Given the description of an element on the screen output the (x, y) to click on. 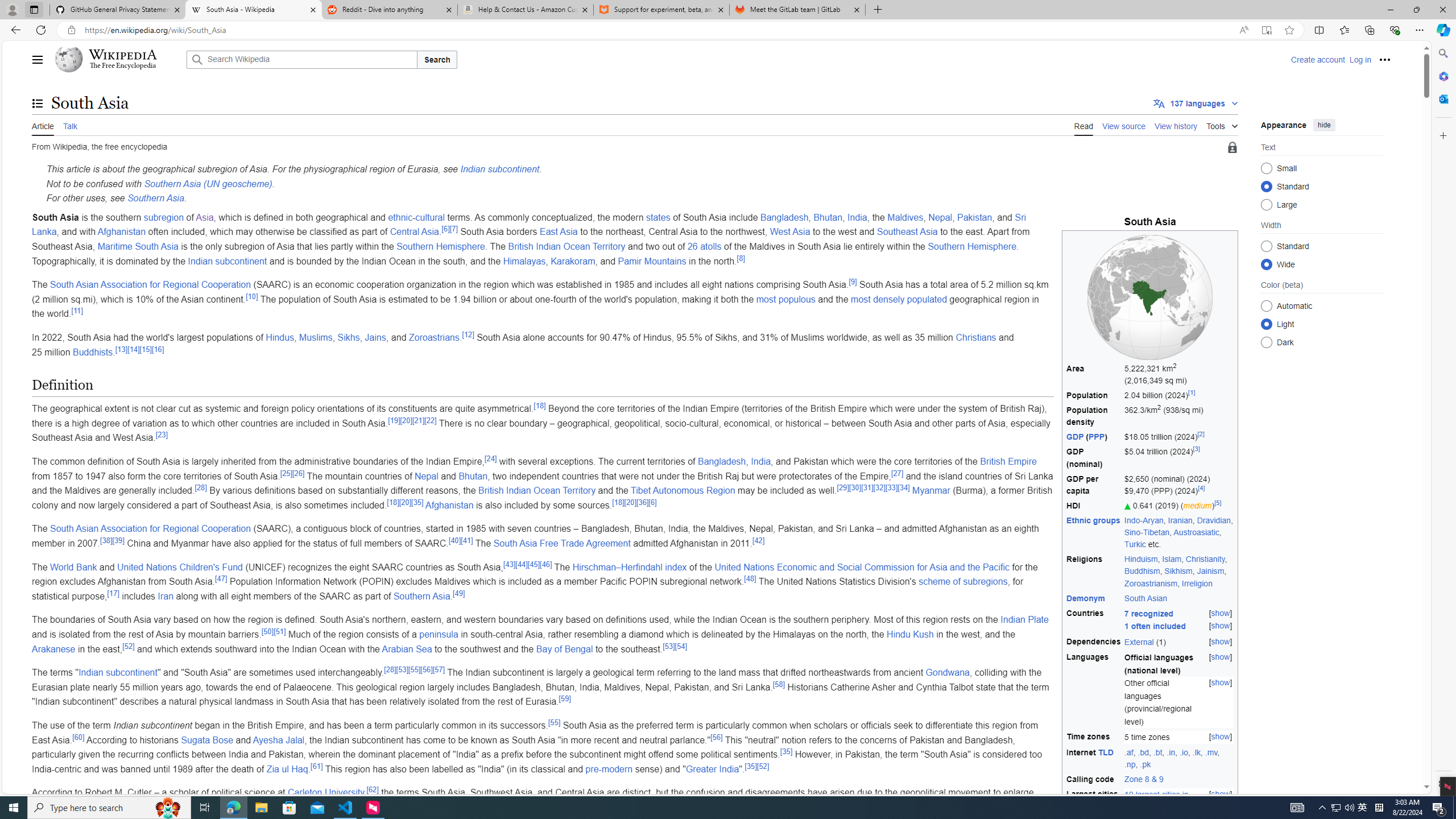
[33] (891, 487)
.pk (1145, 764)
[show] (1220, 793)
Iranian (1179, 519)
Read (1083, 124)
Indo-Aryan (1143, 519)
Arabian Sea (406, 648)
[1] (1191, 392)
[46] (545, 563)
Indian subcontinent (117, 672)
[2] (1200, 434)
HDI (1093, 505)
Small (1266, 167)
